Given the description of an element on the screen output the (x, y) to click on. 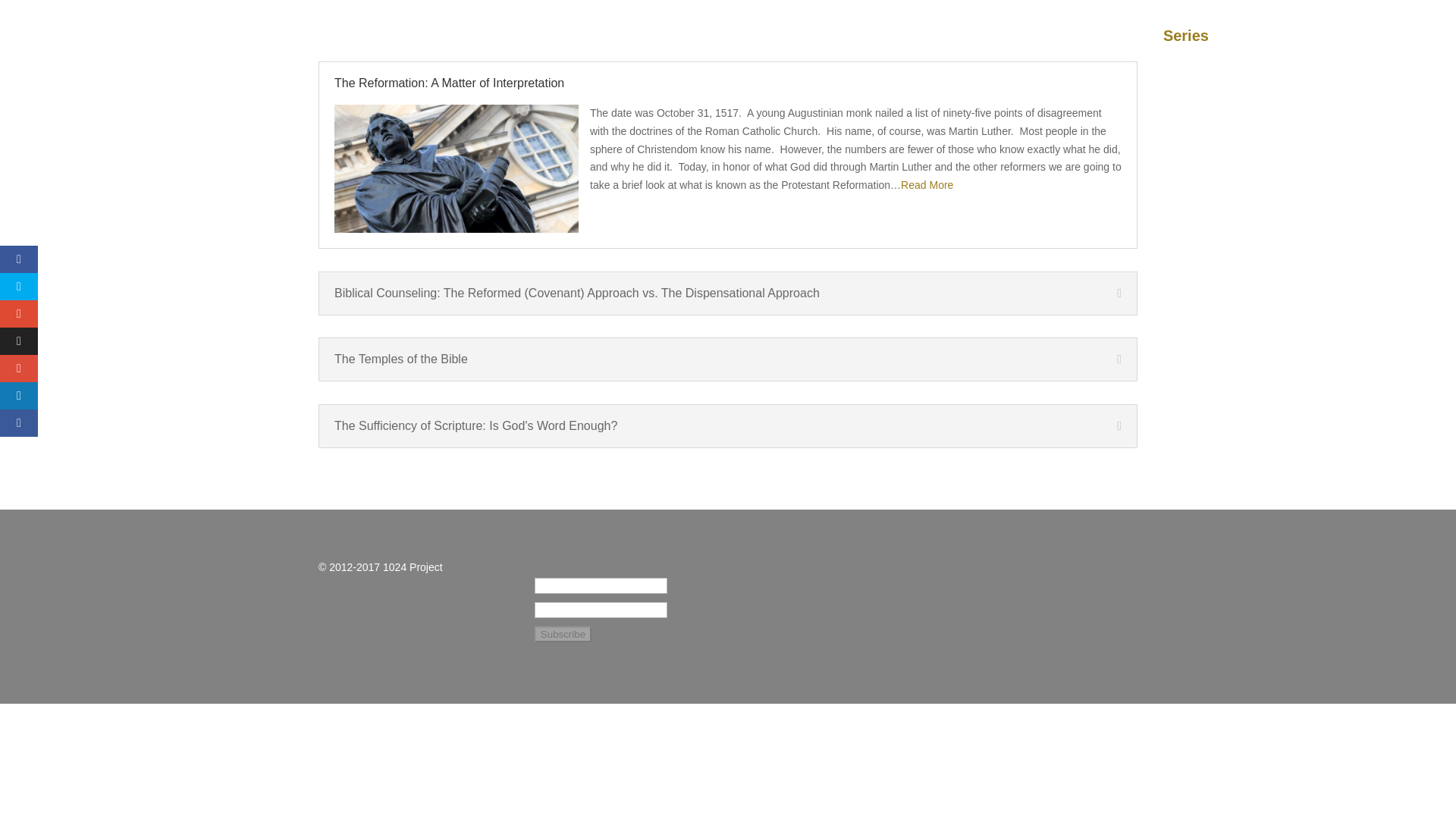
Series (1185, 50)
Contact Us (1360, 50)
Subscribe (1264, 50)
Subscribe (562, 634)
Home (1059, 50)
Subscribe (562, 634)
About (1120, 50)
Read More (927, 184)
